Given the description of an element on the screen output the (x, y) to click on. 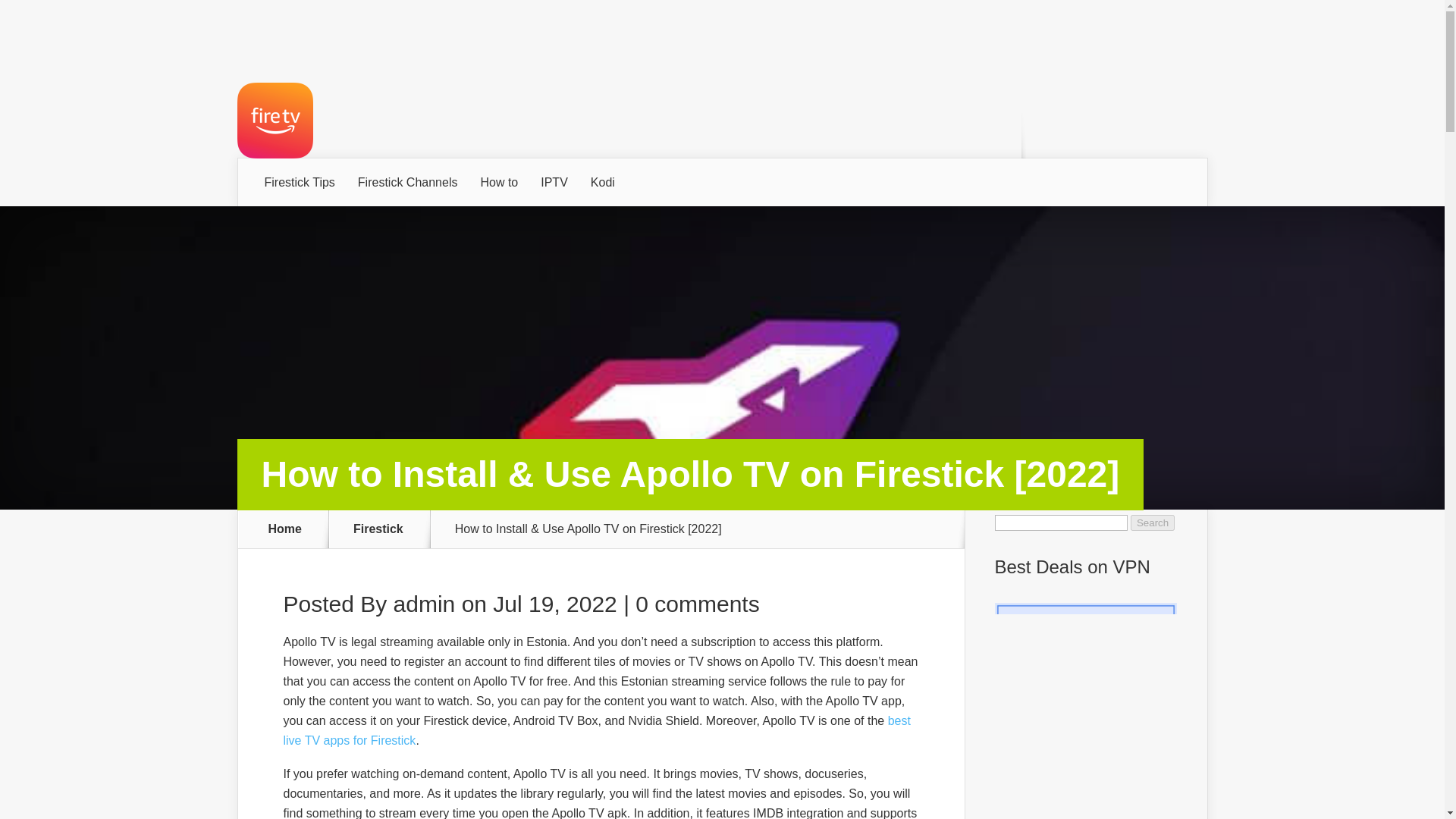
Firestick Channels (407, 182)
IPTV (554, 182)
Firestick (387, 529)
Posts by admin (424, 603)
Search (1152, 522)
0 comments (696, 603)
How to (498, 182)
Home (285, 529)
Search (1152, 522)
Kodi (602, 182)
admin (424, 603)
best live TV apps for Firestick (597, 730)
Firestick Tips (299, 182)
